Given the description of an element on the screen output the (x, y) to click on. 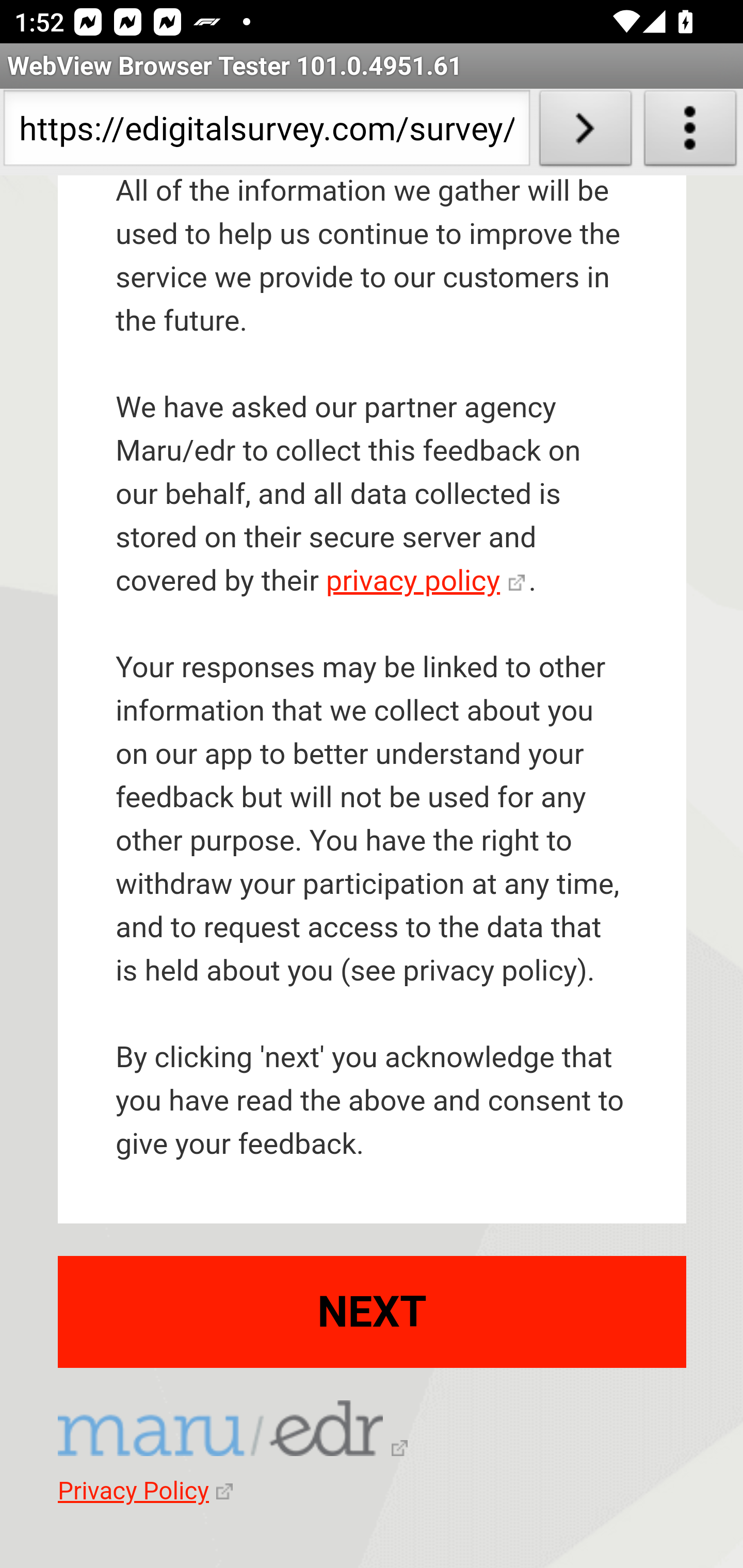
Load URL (585, 132)
About WebView (690, 132)
privacy policy  privacy policy    (425, 580)
NEXT (372, 1311)
Privacy Policy  Privacy Policy    (144, 1491)
